Given the description of an element on the screen output the (x, y) to click on. 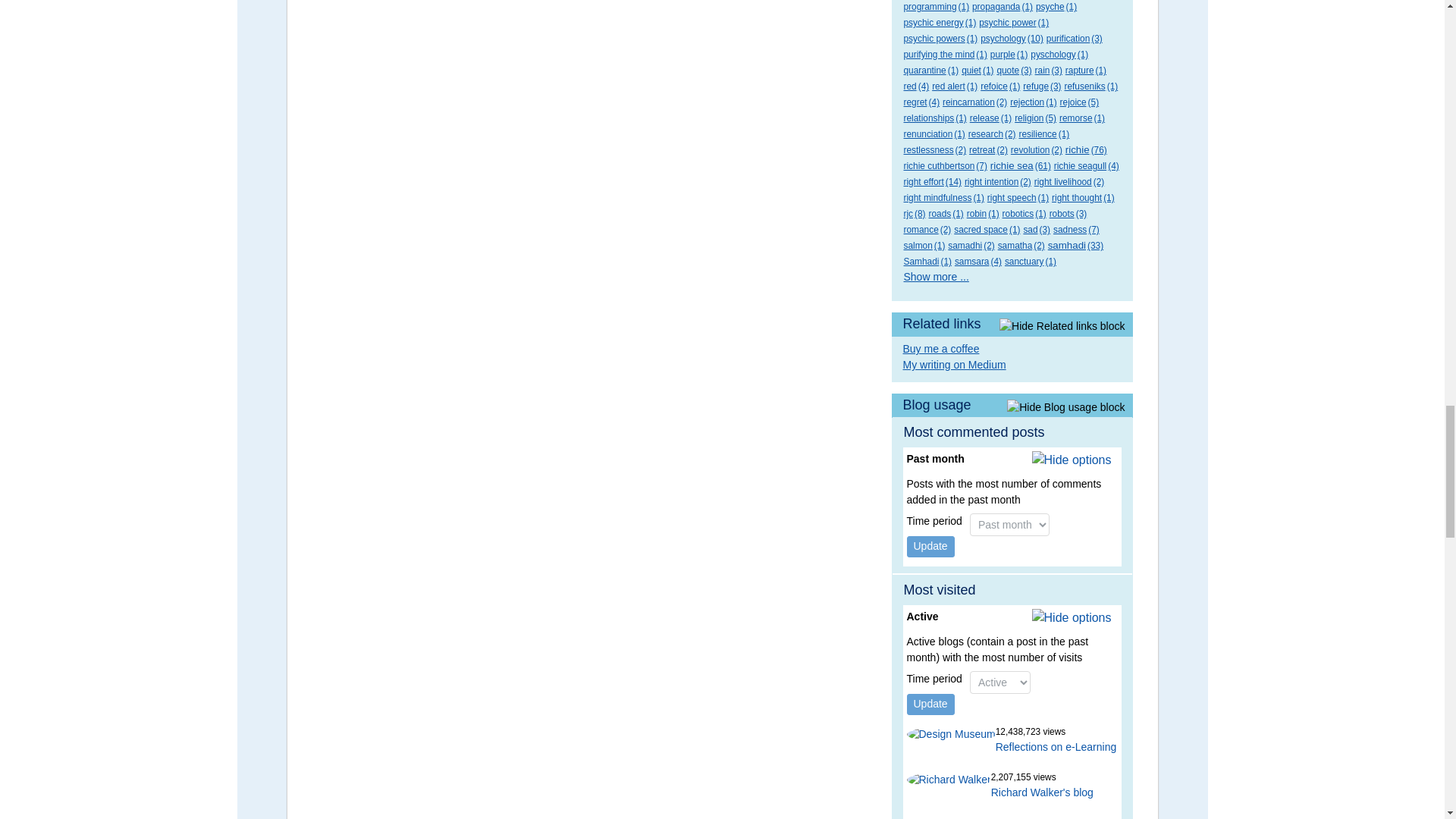
Blog usage (1011, 405)
Update (931, 703)
Hide options (1072, 460)
Related links (1011, 324)
Update (931, 546)
Hide options (1072, 618)
